Given the description of an element on the screen output the (x, y) to click on. 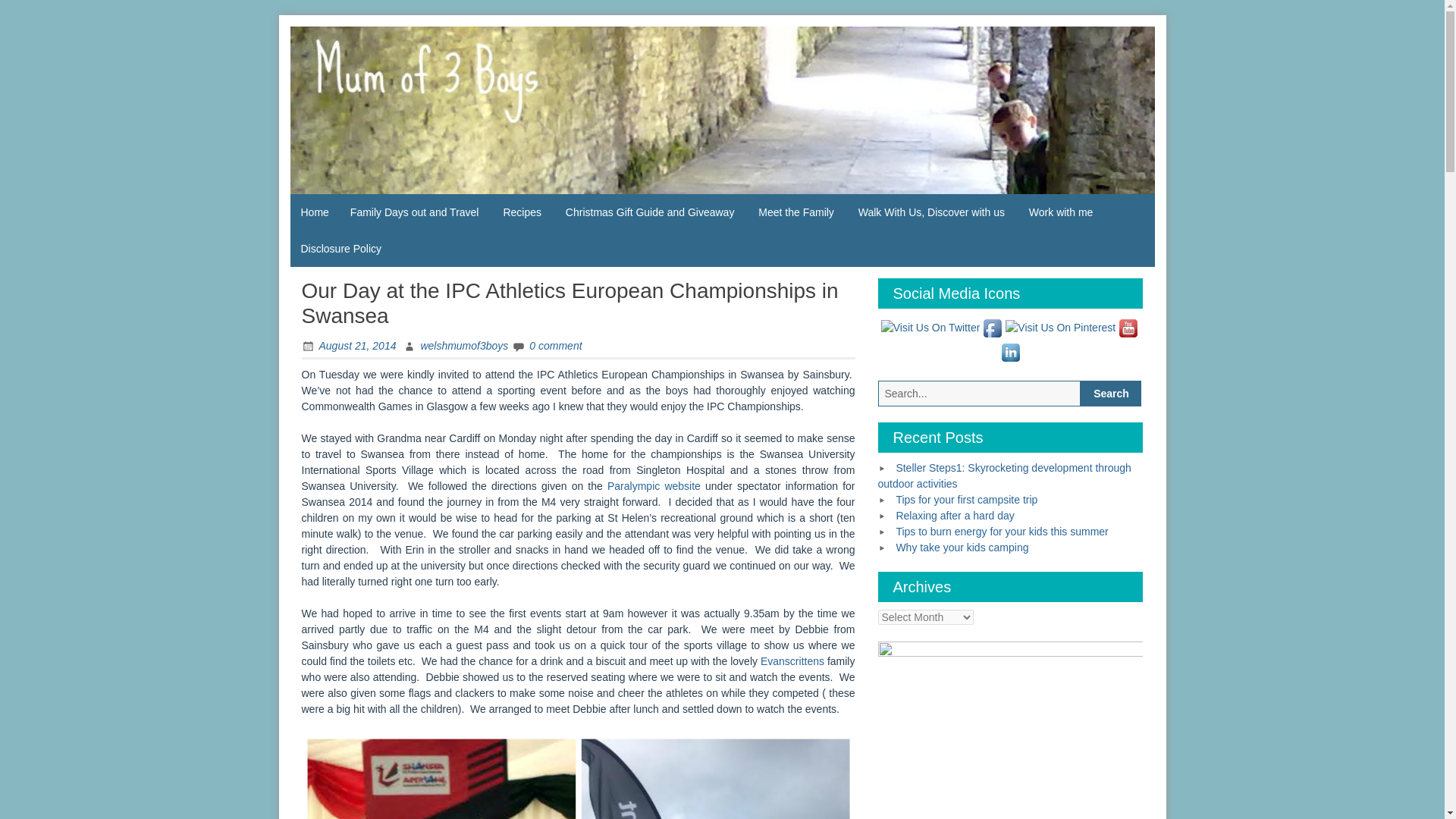
0 comment (546, 345)
Work with me (1060, 212)
Walk With Us, Discover with us (930, 212)
Search (1110, 393)
Search for: (979, 393)
Meet the Family (796, 212)
welshmumof3boys (455, 345)
Visit Us On Twitter (929, 326)
Visit Us On Linkedin (1010, 350)
Evanscrittens (792, 661)
